Given the description of an element on the screen output the (x, y) to click on. 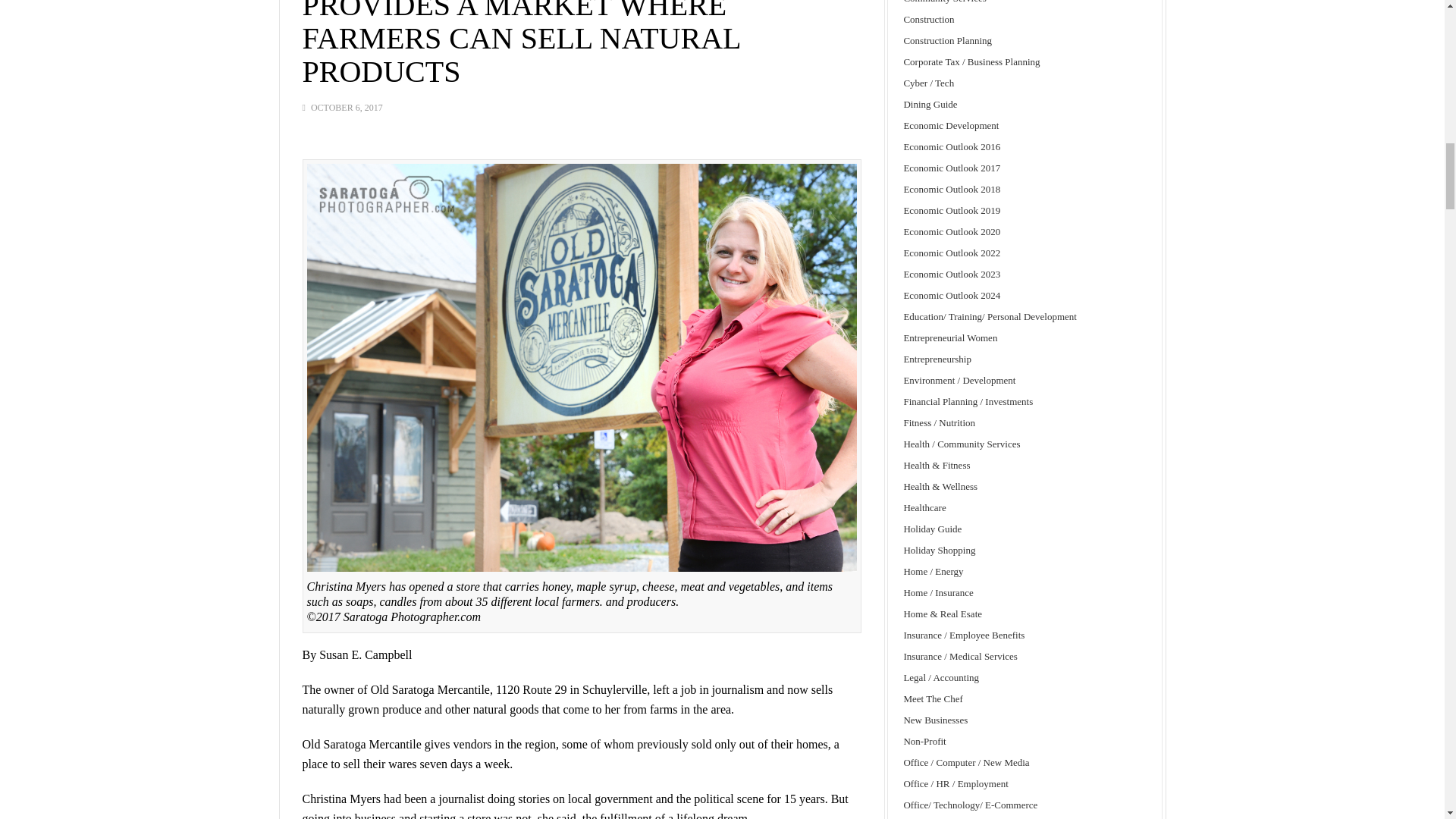
OCTOBER 6, 2017 (346, 107)
